Given the description of an element on the screen output the (x, y) to click on. 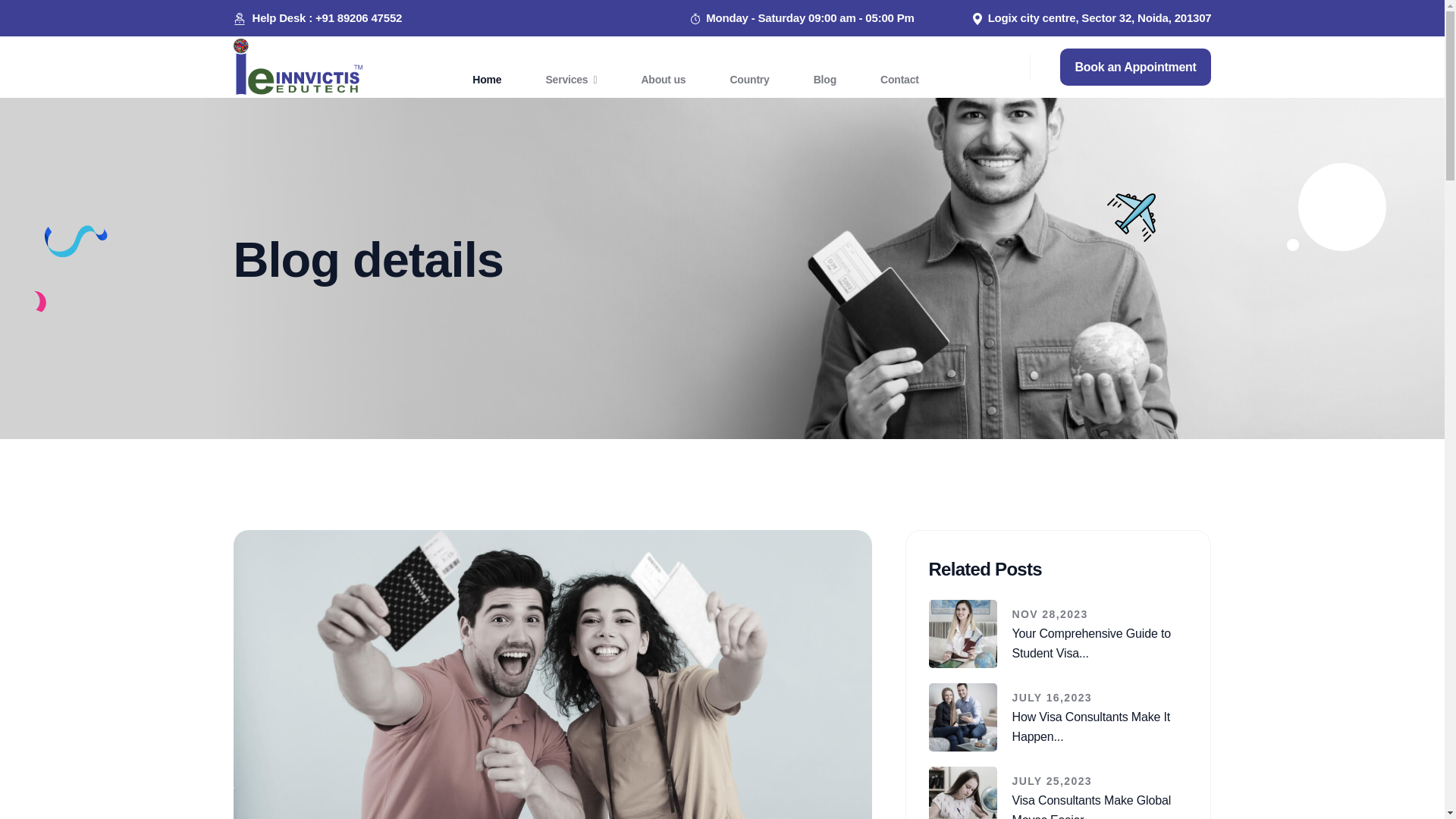
Book an Appointment (1135, 67)
Services (571, 79)
